Given the description of an element on the screen output the (x, y) to click on. 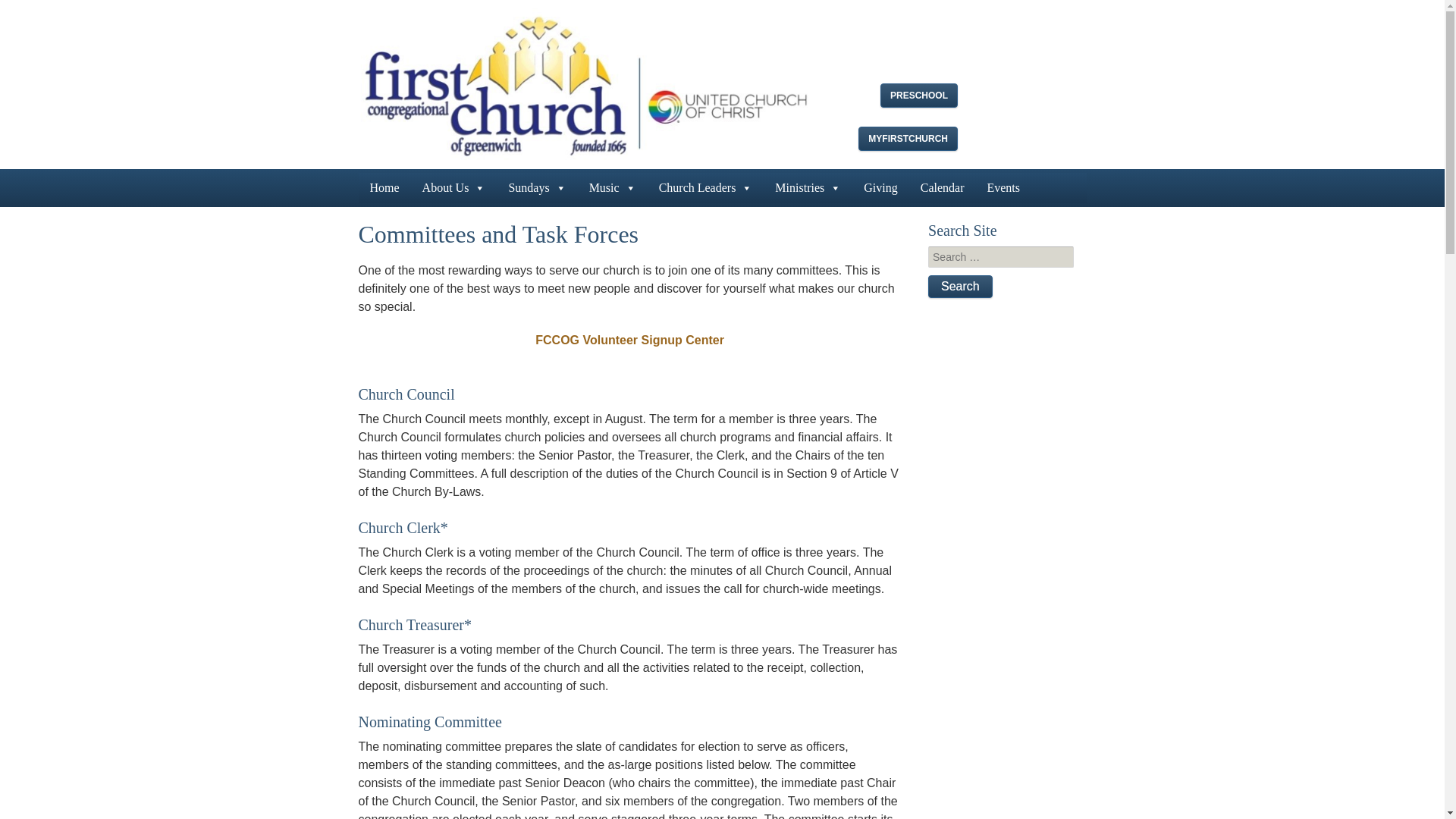
Skip to content (398, 181)
Skip to content (398, 181)
MYFIRSTCHURCH (908, 138)
About Us (453, 187)
Search (960, 286)
Sundays (536, 187)
FCCOG Volunteer Signup Center (629, 339)
Home (384, 187)
PRESCHOOL (919, 95)
Search (960, 286)
